Given the description of an element on the screen output the (x, y) to click on. 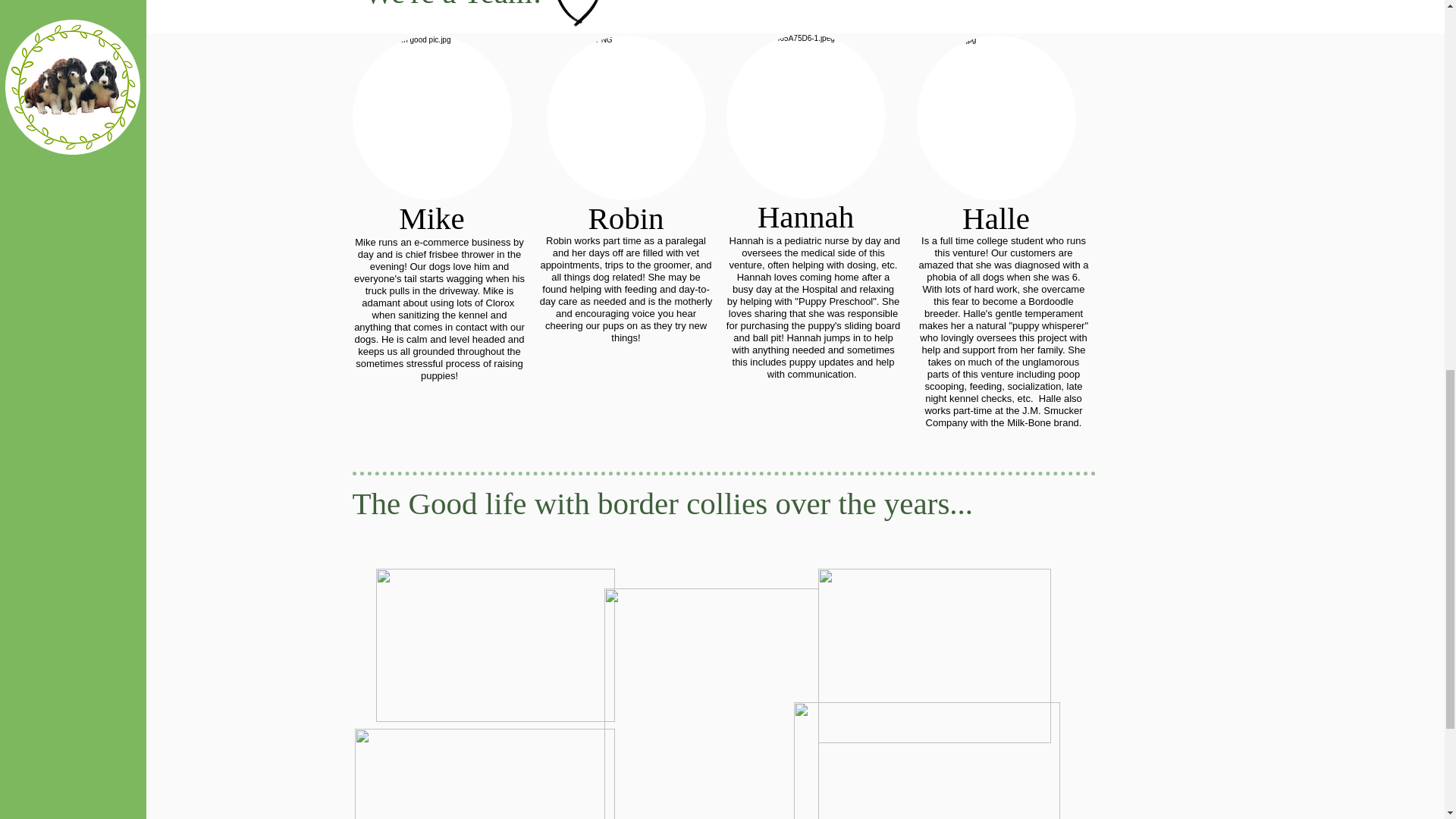
guy3.jpg (805, 116)
guy3.jpg (431, 117)
guy3.jpg (625, 117)
archie had.png (932, 655)
baby hannah with archi.jpg (484, 773)
guy3.jpg (995, 117)
archie first day of school.jpg (494, 644)
archie snowman.jpg (711, 703)
archie dog house.jpg (926, 760)
